Given the description of an element on the screen output the (x, y) to click on. 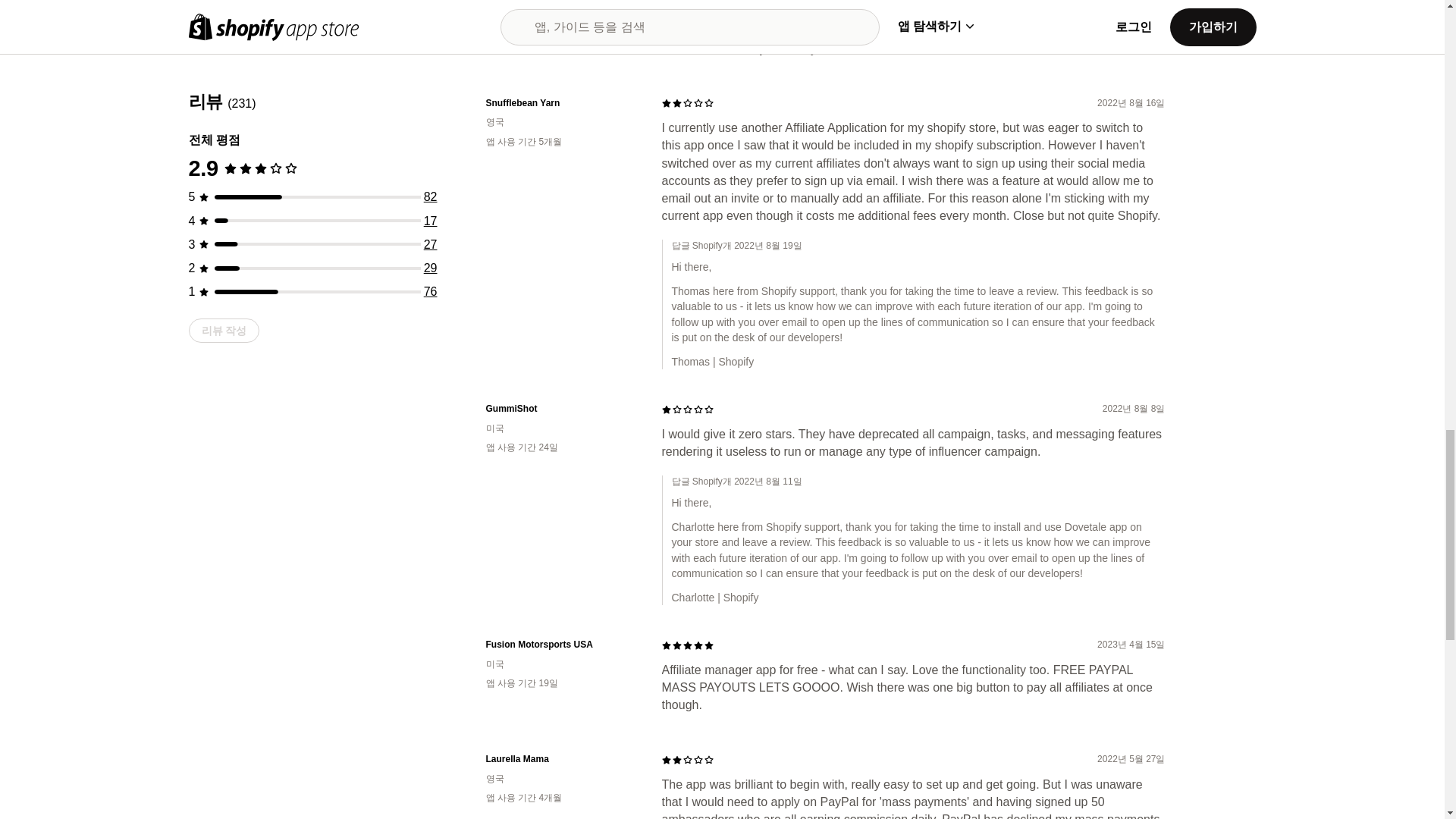
Snufflebean Yarn (560, 103)
Laurella Mama (560, 758)
Fusion Motorsports USA (560, 644)
GummiShot (560, 408)
